Given the description of an element on the screen output the (x, y) to click on. 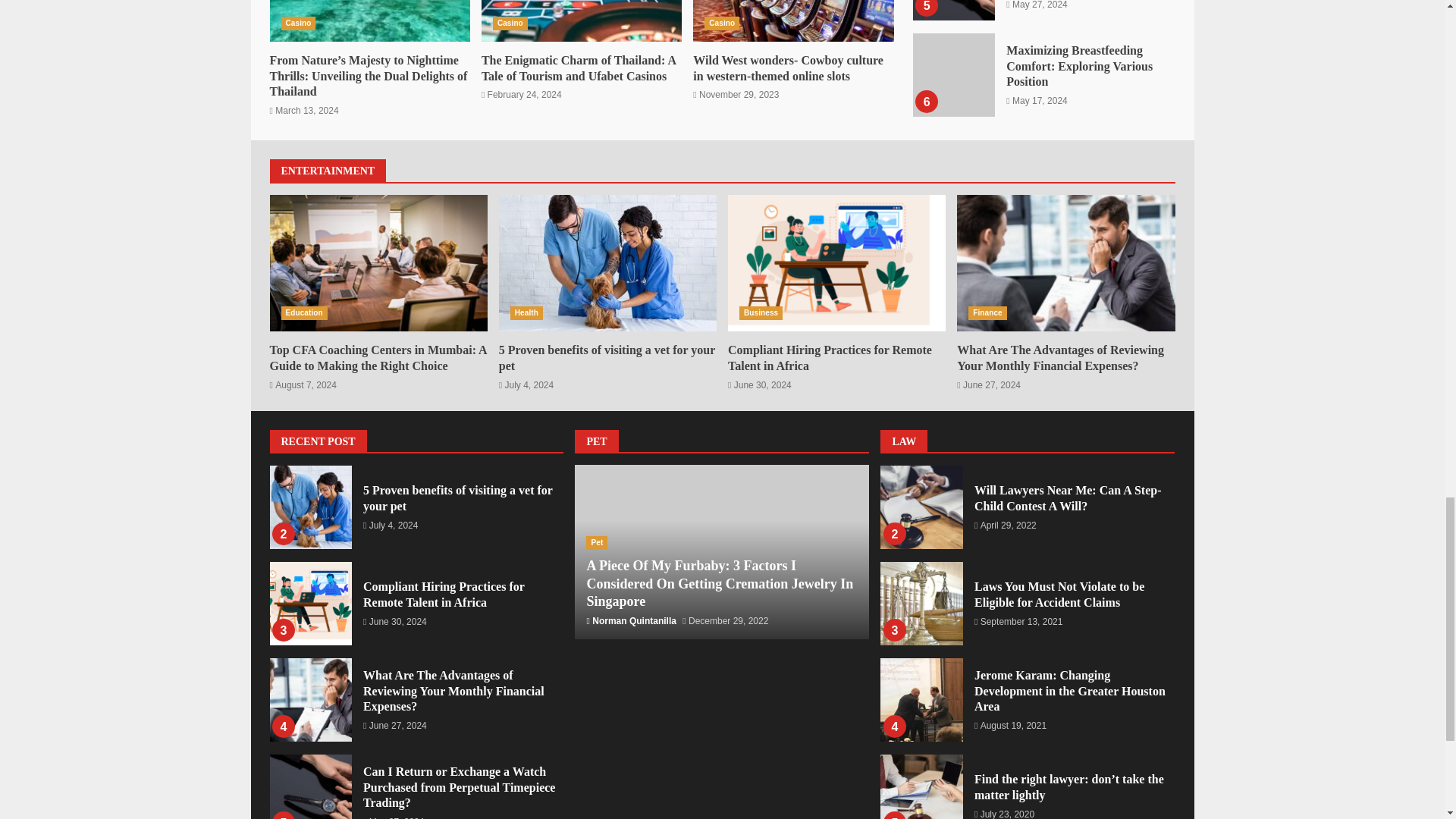
Casino (510, 23)
Casino (298, 23)
Casino (721, 23)
